Given the description of an element on the screen output the (x, y) to click on. 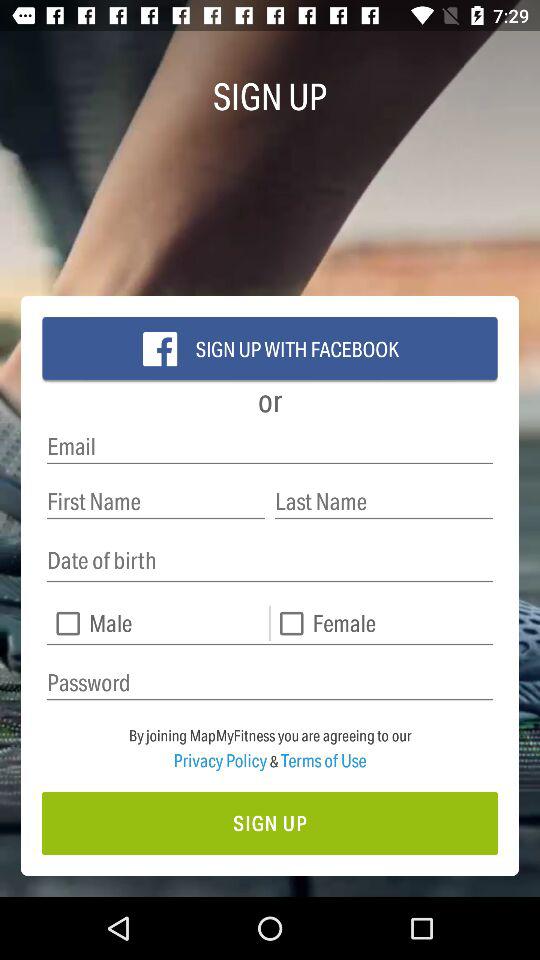
firstname textbox (156, 501)
